Given the description of an element on the screen output the (x, y) to click on. 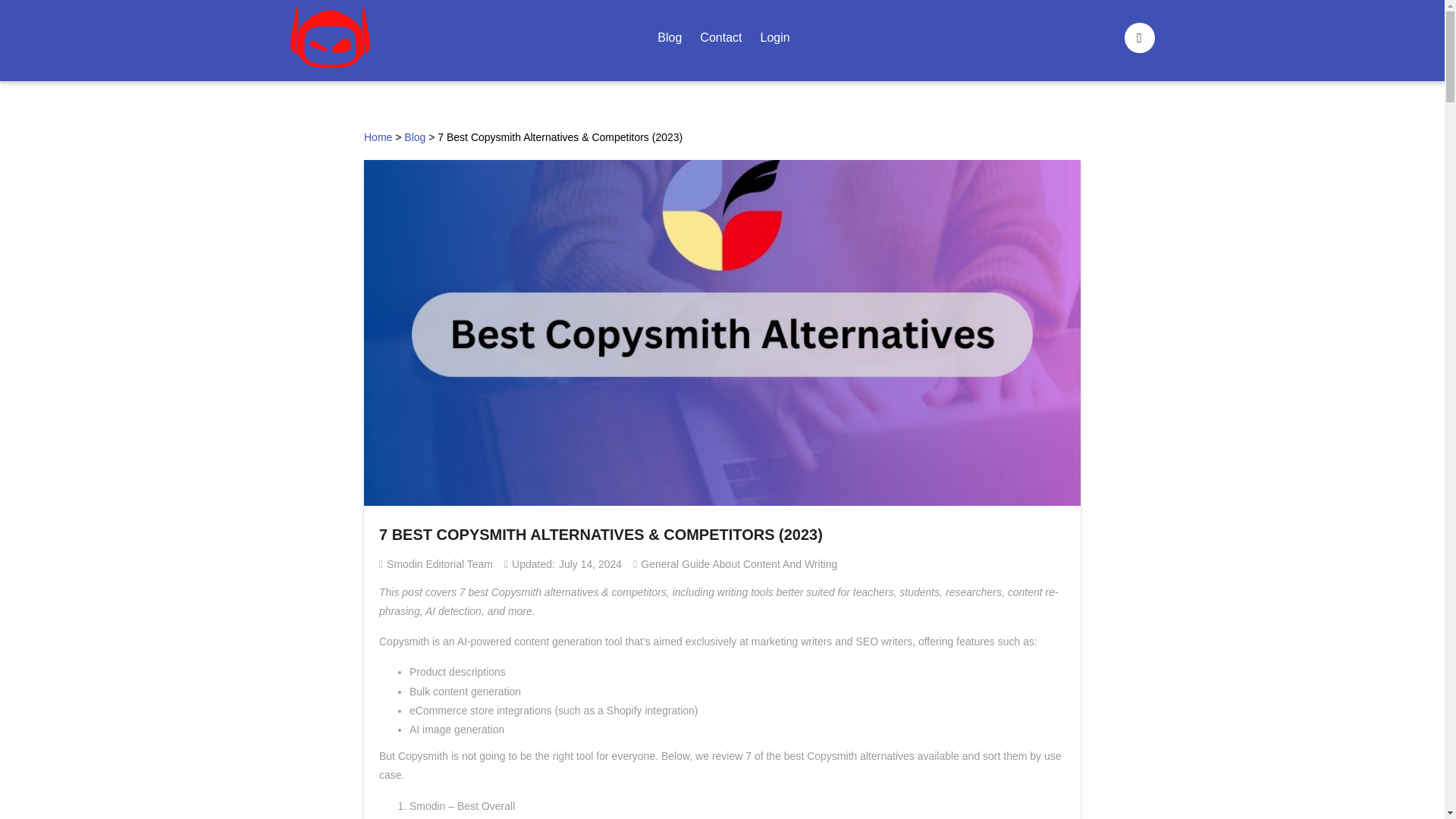
Writing Guide - SmodinBlog (329, 40)
Smodin Editorial Team (440, 563)
Login (774, 37)
Login (774, 37)
General Guide About Content And Writing (738, 563)
Contact (721, 37)
Contact (721, 37)
Blog (414, 137)
Home (377, 137)
